Given the description of an element on the screen output the (x, y) to click on. 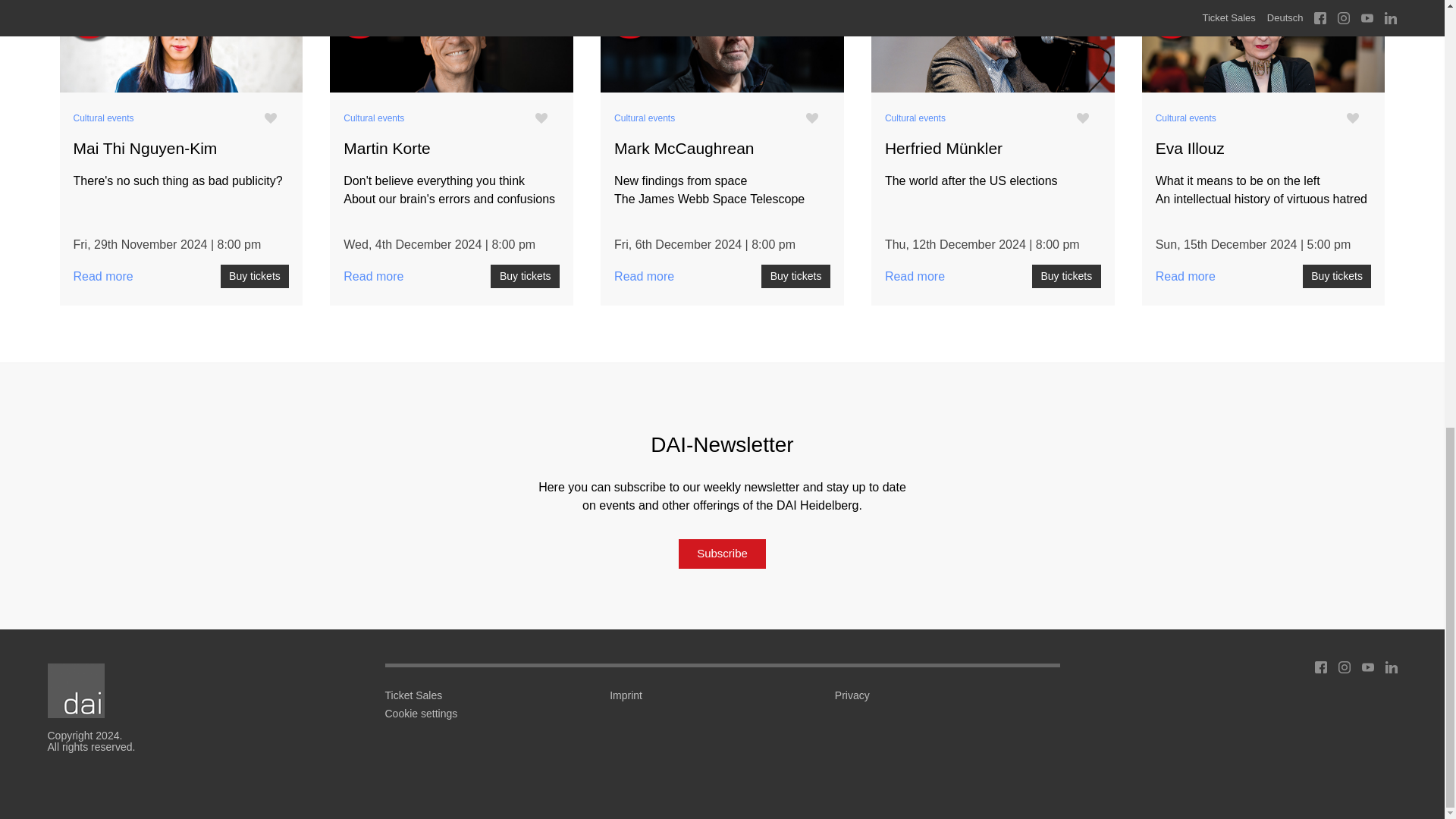
Read more (180, 49)
Read more (1263, 49)
Read more (721, 49)
Read more (451, 49)
Read more (992, 49)
